Given the description of an element on the screen output the (x, y) to click on. 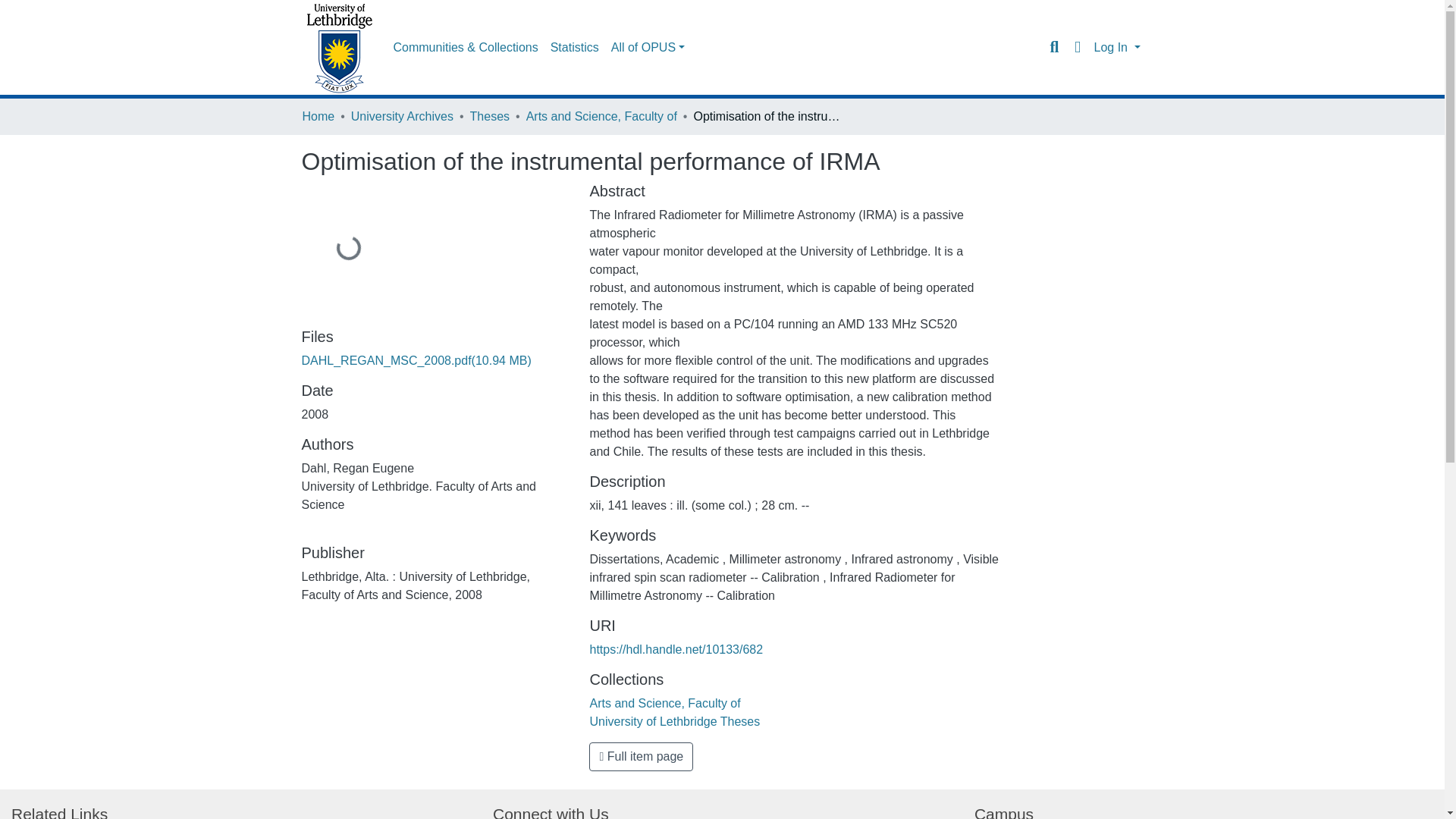
University of Lethbridge Theses (674, 721)
All of OPUS (647, 47)
Home (317, 116)
Language switch (1077, 47)
Theses (489, 116)
Full item page (641, 756)
Search (1053, 47)
Arts and Science, Faculty of (664, 703)
Log In (1116, 47)
Statistics (574, 47)
University Archives (401, 116)
Statistics (574, 47)
Arts and Science, Faculty of (601, 116)
